Given the description of an element on the screen output the (x, y) to click on. 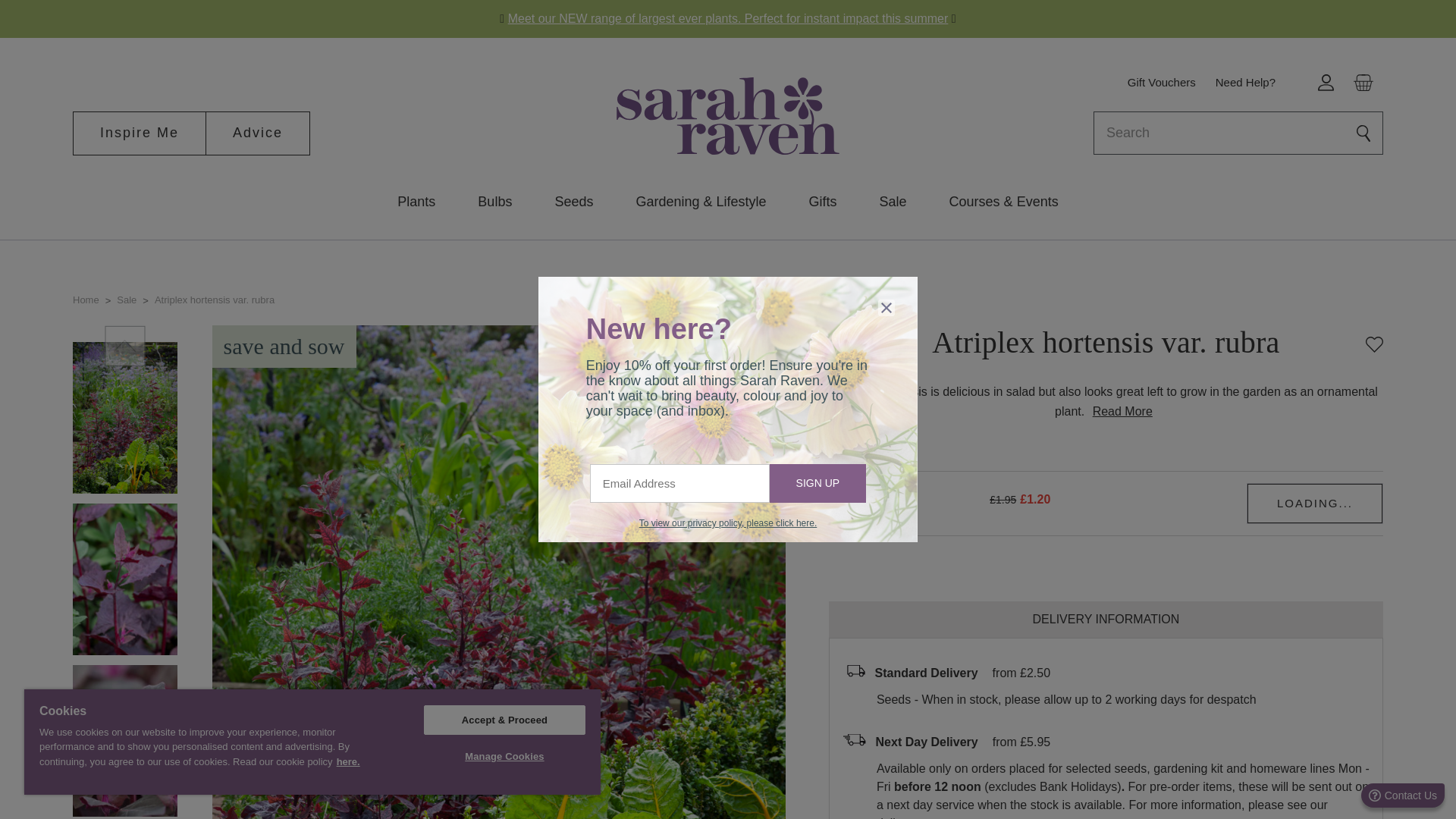
Advice (258, 133)
Customer reviews powered by Trustpilot (1105, 372)
Inspire Me (139, 133)
Need Help? (1245, 82)
Gift Vouchers (1161, 82)
Plants (416, 203)
